Given the description of an element on the screen output the (x, y) to click on. 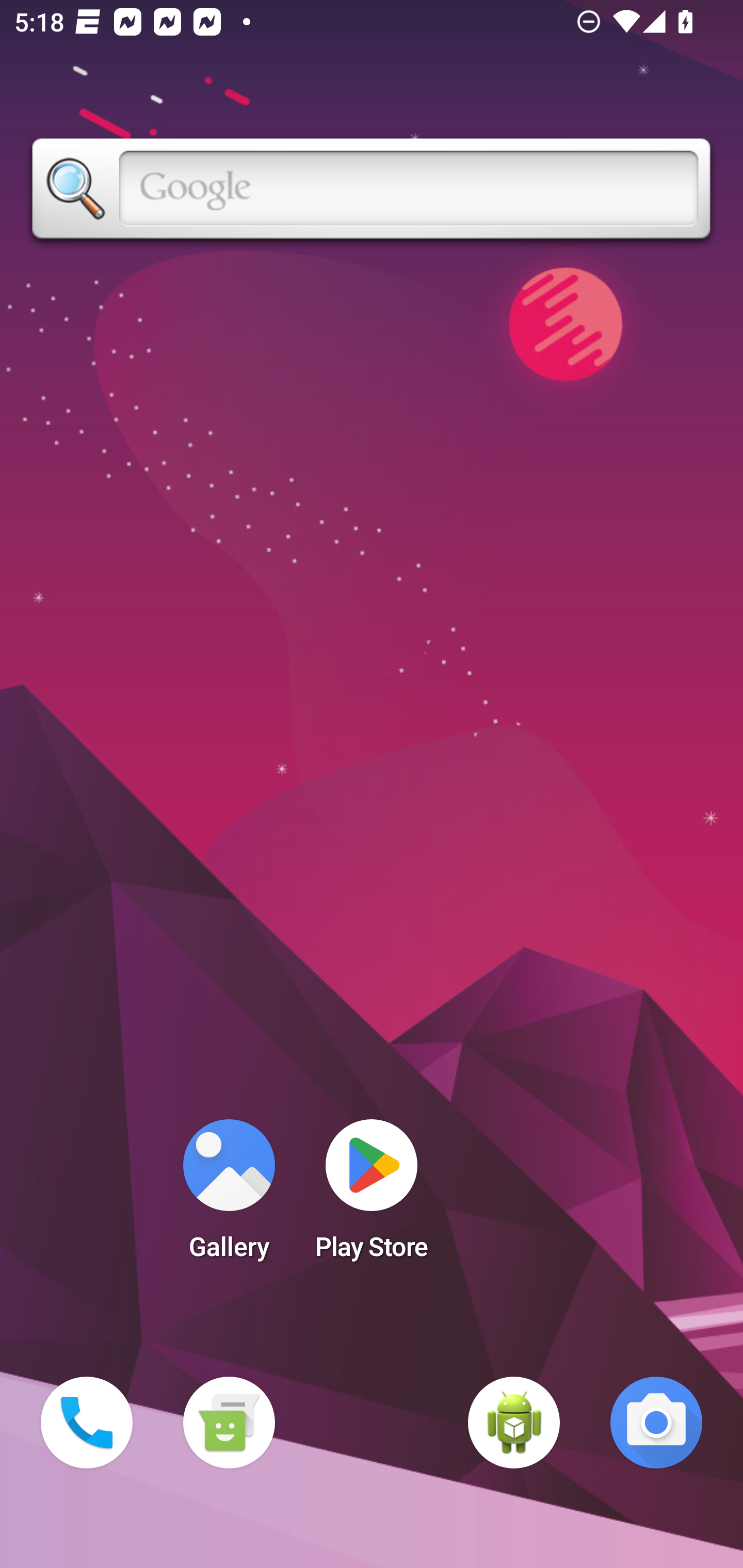
Gallery (228, 1195)
Play Store (371, 1195)
Phone (86, 1422)
Messaging (228, 1422)
WebView Browser Tester (513, 1422)
Camera (656, 1422)
